Given the description of an element on the screen output the (x, y) to click on. 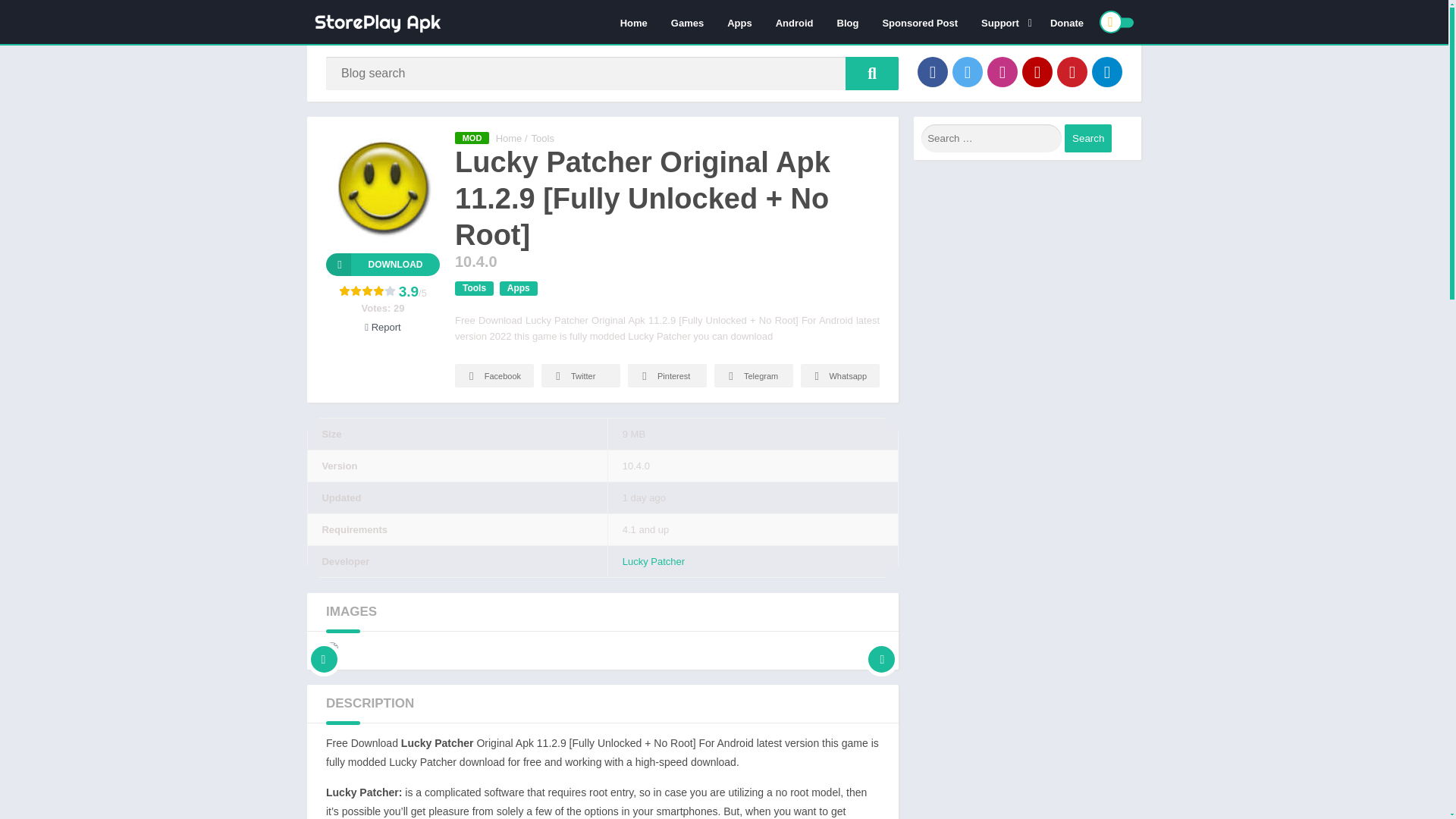
Donate (1066, 22)
Sponsored Post (919, 22)
Blog (847, 22)
Twitter (967, 71)
Blog search (871, 73)
Facebook (932, 71)
Games (686, 22)
Pinterest (1072, 71)
Apps (739, 22)
Download (382, 264)
